Given the description of an element on the screen output the (x, y) to click on. 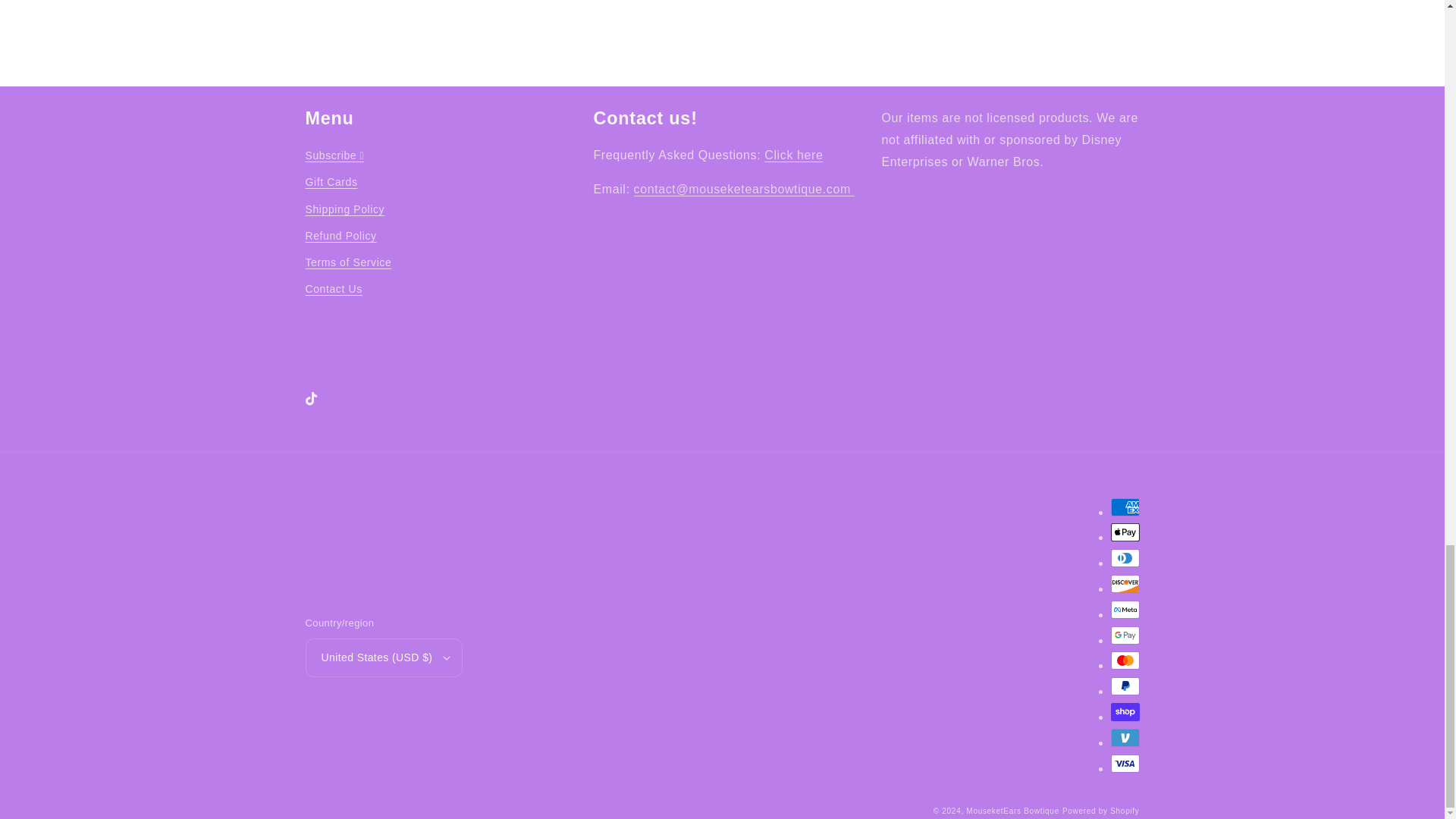
Discover (1123, 583)
Visa (1123, 763)
Diners Club (1123, 557)
Frequently Asked Questions (793, 154)
Meta Pay (1123, 609)
Shop Pay (1123, 711)
American Express (1123, 506)
Mastercard (1123, 660)
Google Pay (1123, 635)
Contact Us (743, 188)
